Given the description of an element on the screen output the (x, y) to click on. 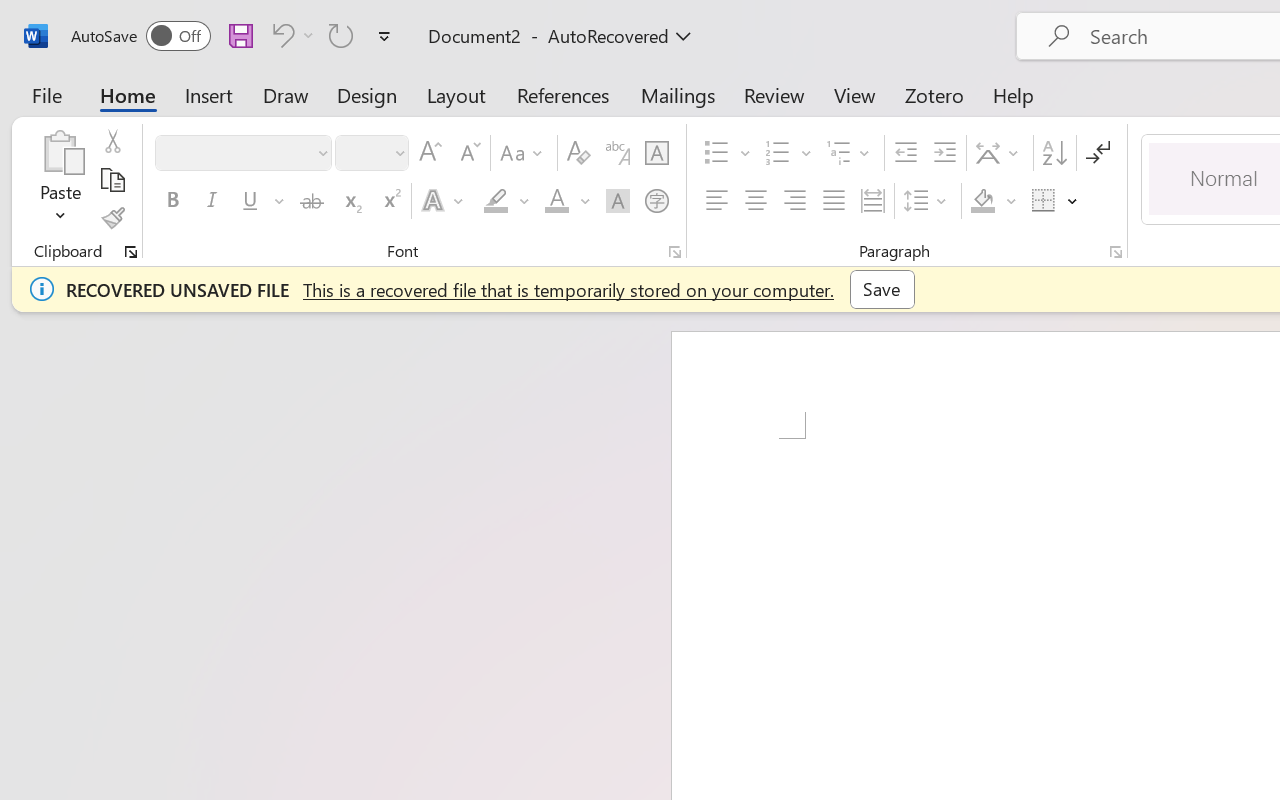
Uncover (934, 111)
Push (359, 111)
